Given the description of an element on the screen output the (x, y) to click on. 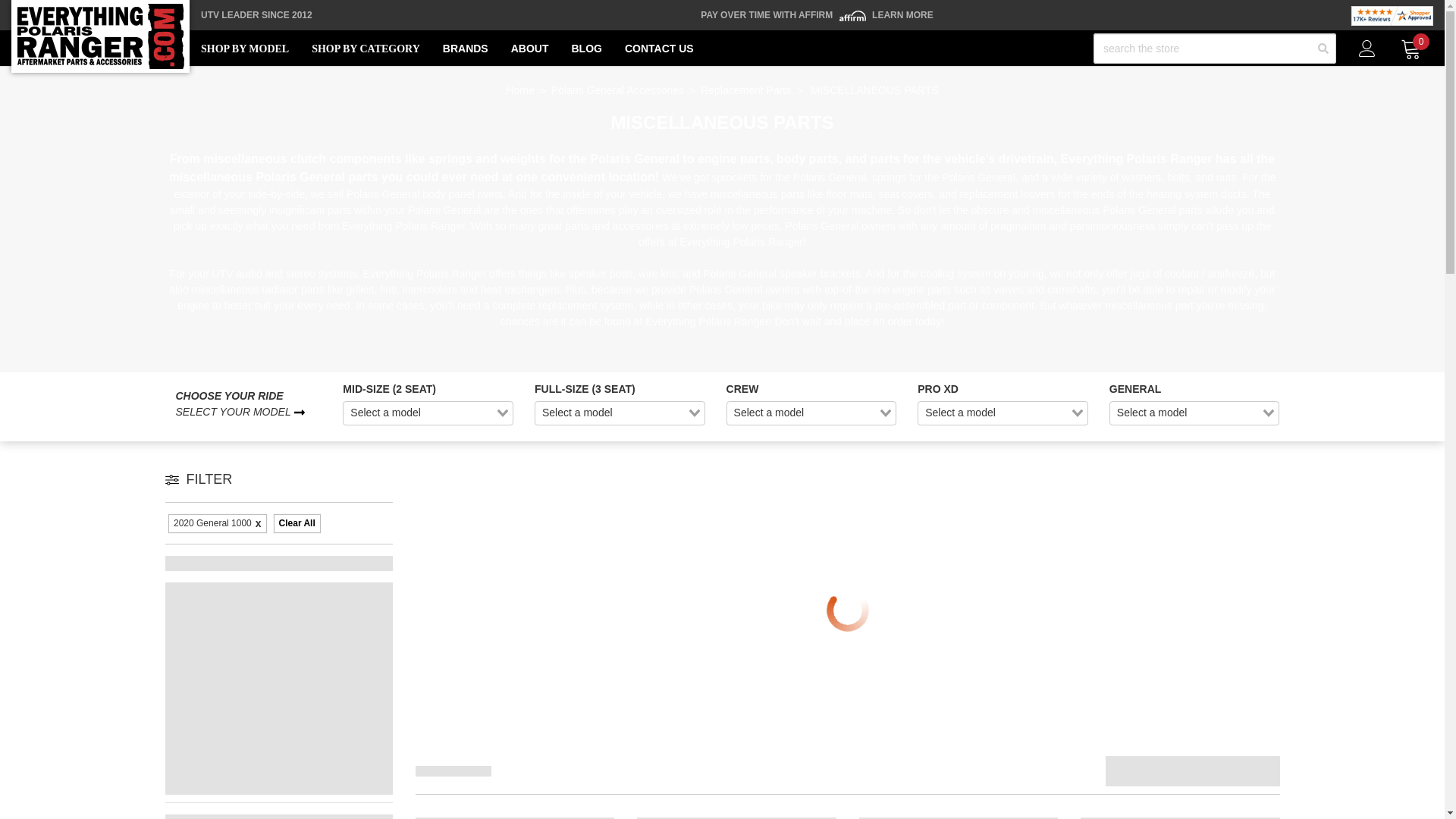
LEARN MORE (902, 14)
SHOP BY MODEL (244, 48)
UTV LEADER SINCE 2012 (256, 14)
Everything Polaris Ranger (100, 36)
